Given the description of an element on the screen output the (x, y) to click on. 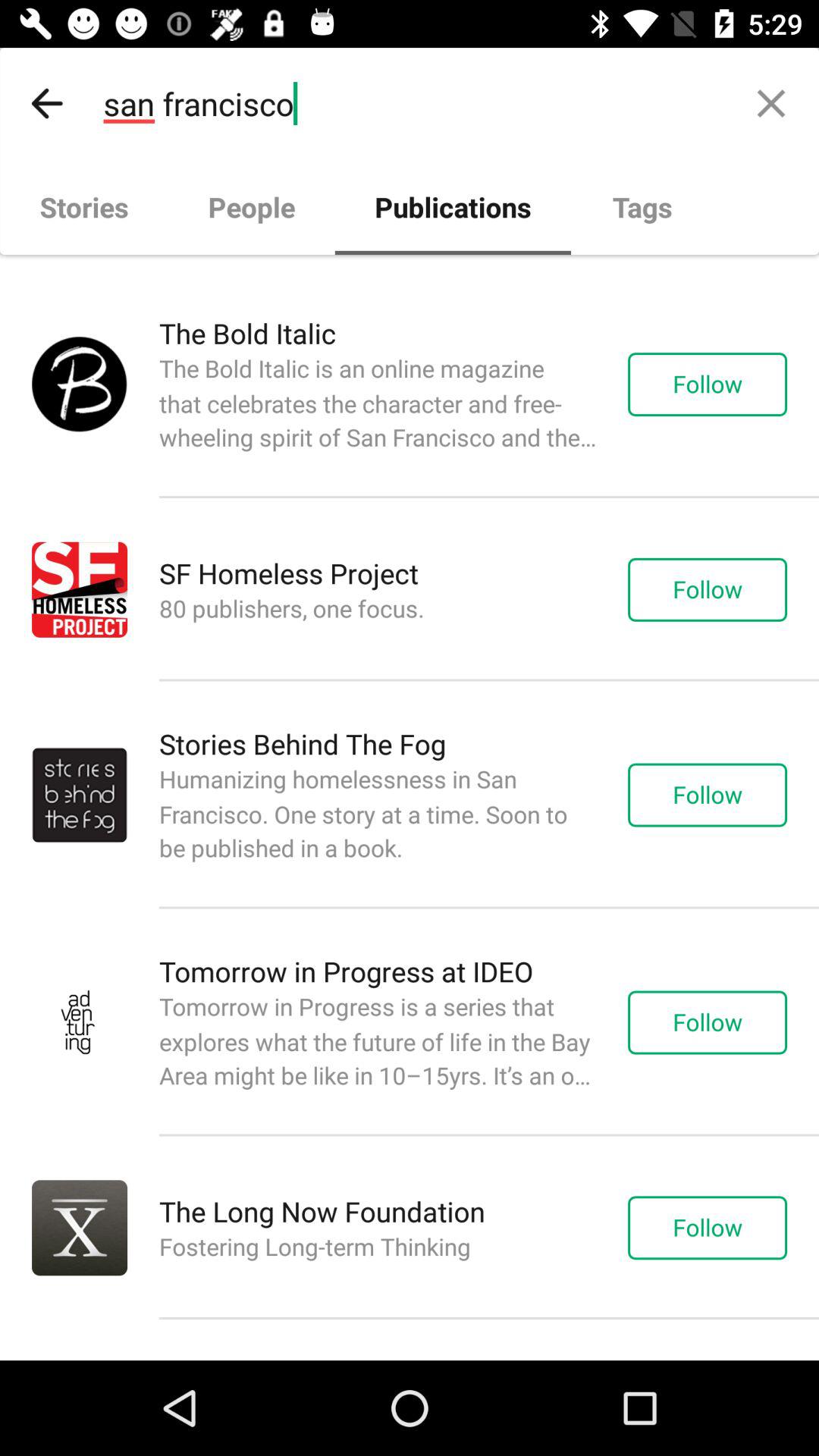
open item to the right of the san francisco item (771, 103)
